Given the description of an element on the screen output the (x, y) to click on. 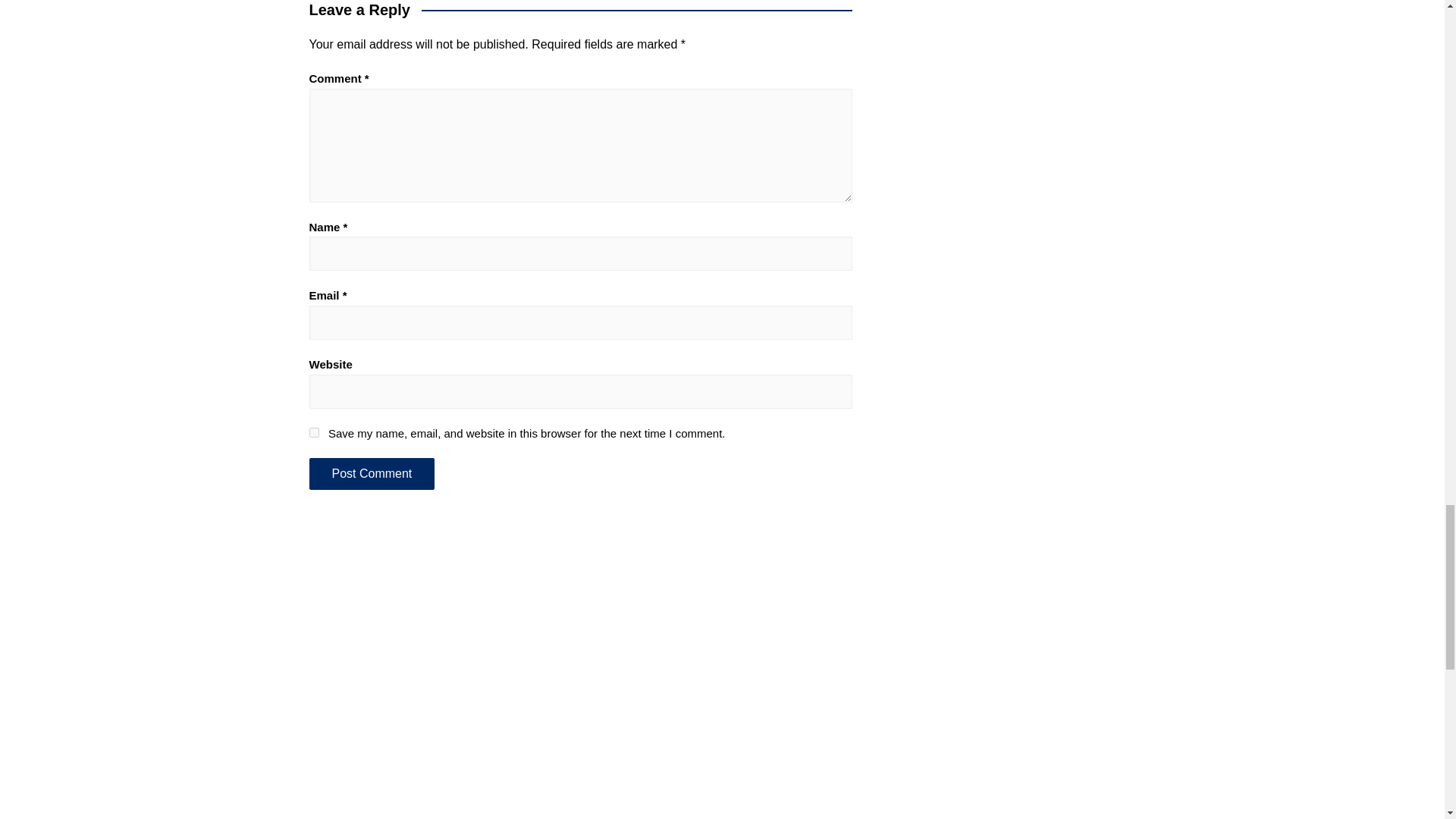
Advertisement (722, 794)
yes (313, 432)
Post Comment (371, 473)
